Given the description of an element on the screen output the (x, y) to click on. 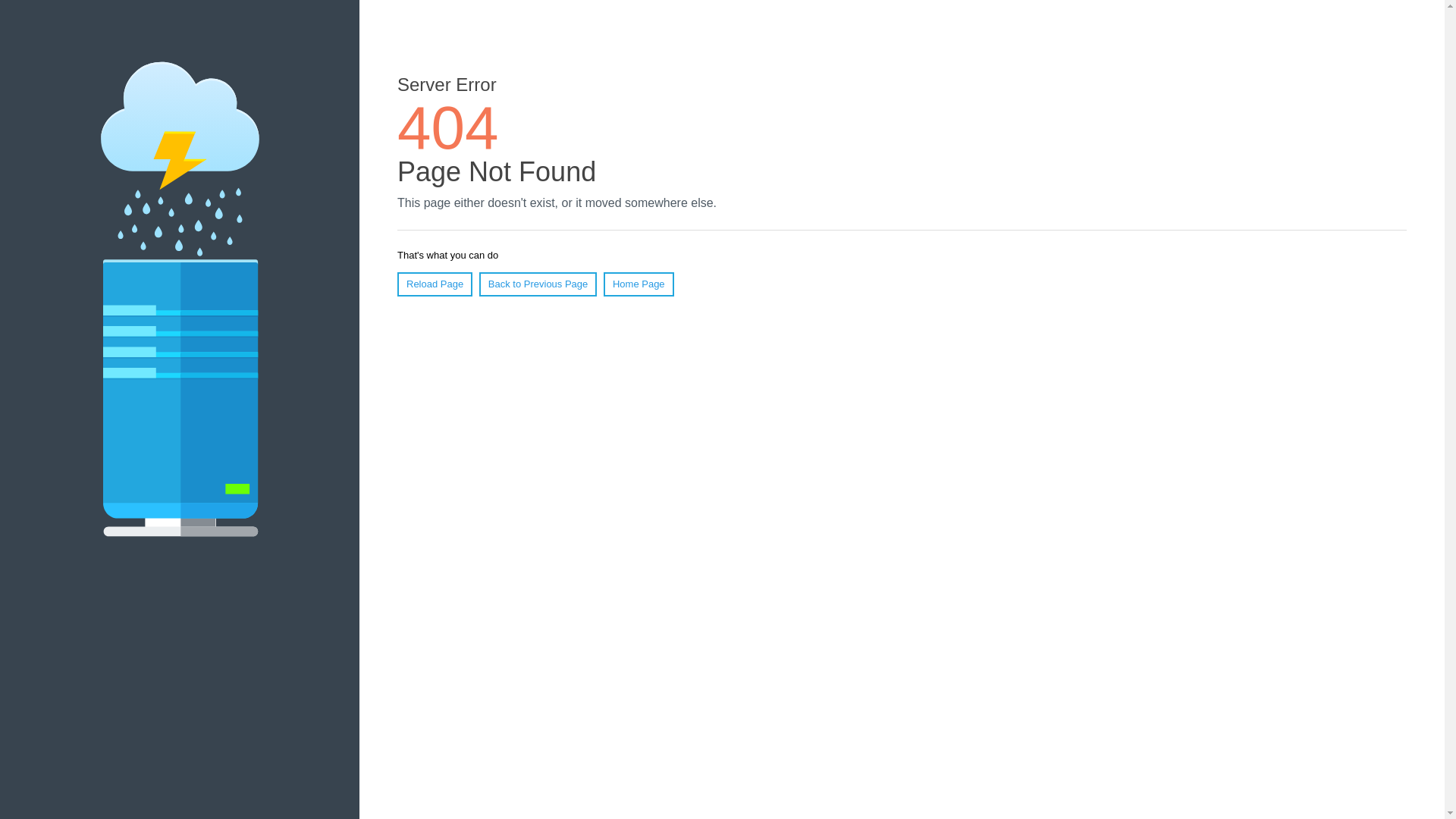
Home Page Element type: text (638, 284)
Reload Page Element type: text (434, 284)
Back to Previous Page Element type: text (538, 284)
